Given the description of an element on the screen output the (x, y) to click on. 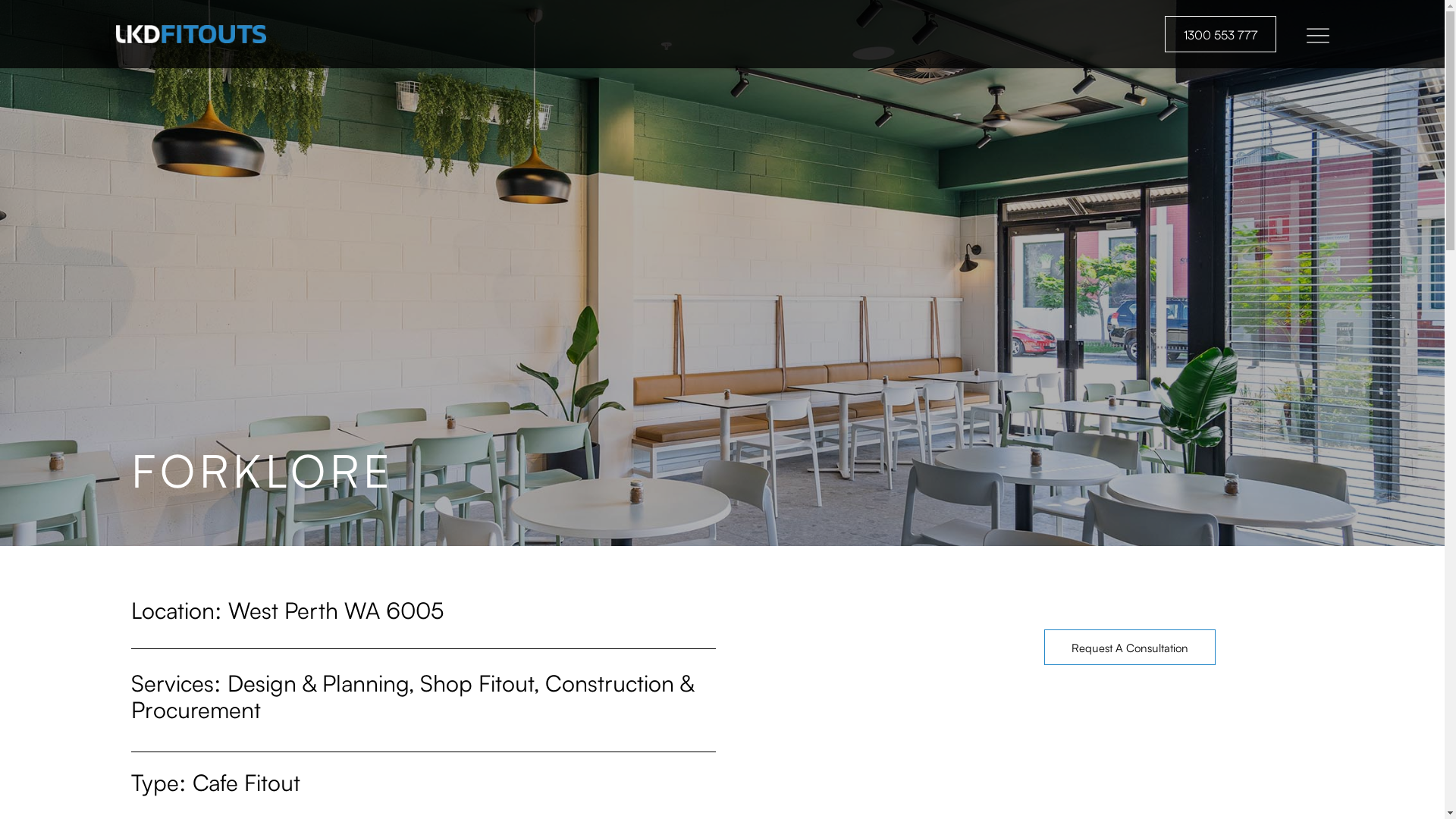
1300 553 777 Element type: text (1220, 33)
Request A Consultation Element type: text (1129, 647)
